Given the description of an element on the screen output the (x, y) to click on. 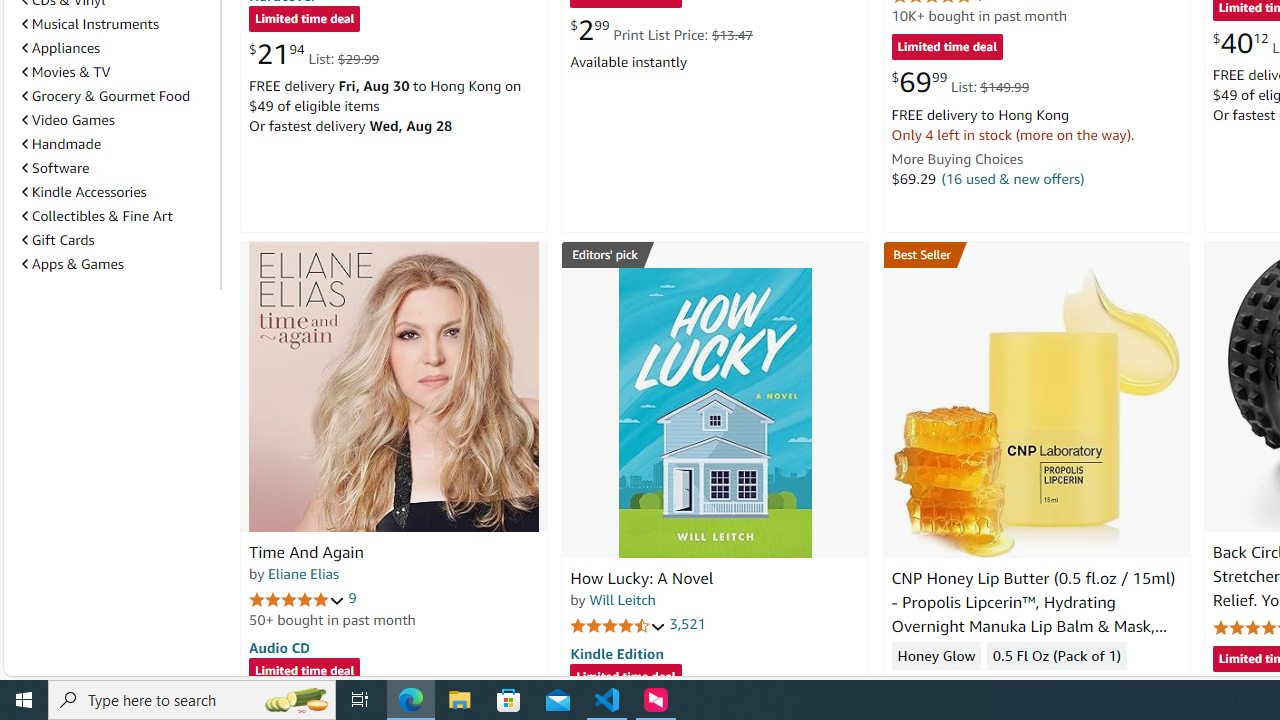
Software (55, 168)
9 (352, 597)
Time And Again (393, 386)
Will Leitch (621, 599)
Software (117, 167)
Handmade (61, 143)
How Lucky: A Novel (641, 578)
Handmade (117, 143)
Editors' pick Best Mystery, Thriller & Suspense (715, 254)
Collectibles & Fine Art (96, 215)
4.3 out of 5 stars (939, 685)
Kindle Accessories (117, 192)
Apps & Games (72, 263)
